Given the description of an element on the screen output the (x, y) to click on. 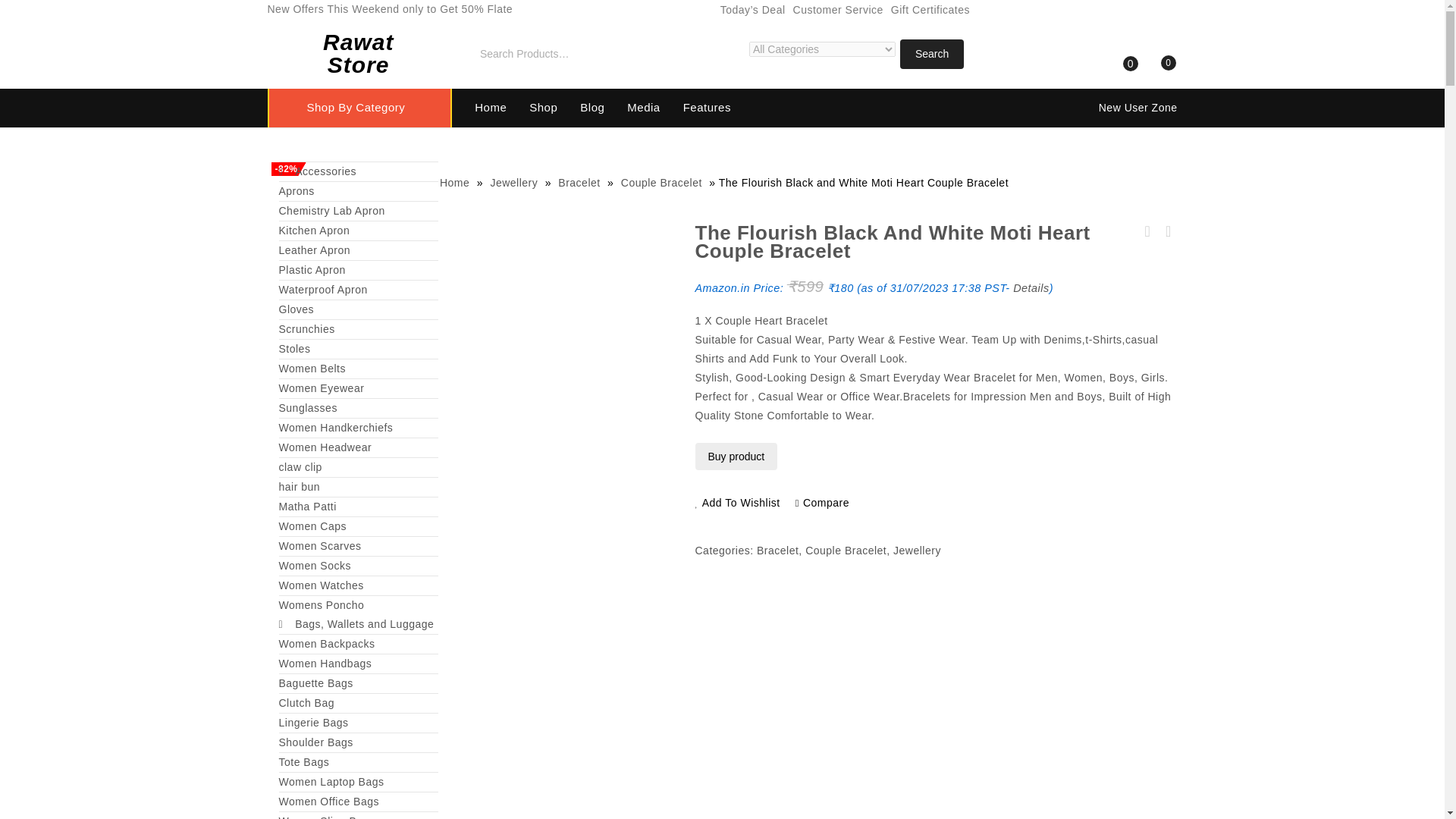
Waterproof Apron (358, 289)
Plastic Apron (358, 270)
Women Belts (358, 368)
Scrunchies (358, 329)
Women Backpacks (358, 643)
Search (931, 53)
hair bun (358, 486)
Women Headwear (358, 447)
Sunglasses (358, 407)
Women Watches (358, 585)
